Given the description of an element on the screen output the (x, y) to click on. 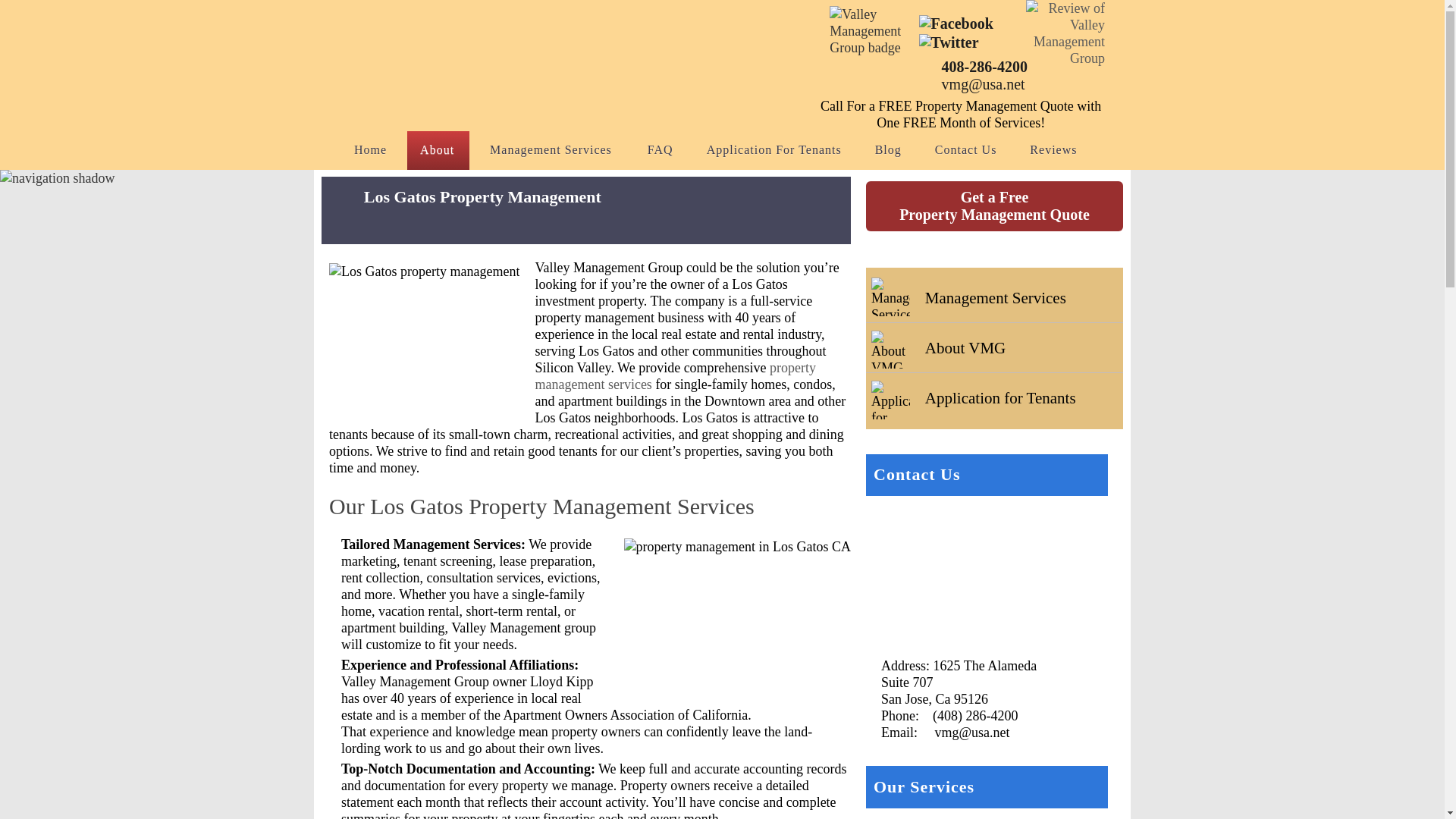
Facebook (955, 23)
facebook (955, 21)
Twitter (948, 42)
Home (369, 150)
About (437, 150)
408-286-4200 (972, 66)
Management Services (552, 150)
twitter (948, 39)
